Given the description of an element on the screen output the (x, y) to click on. 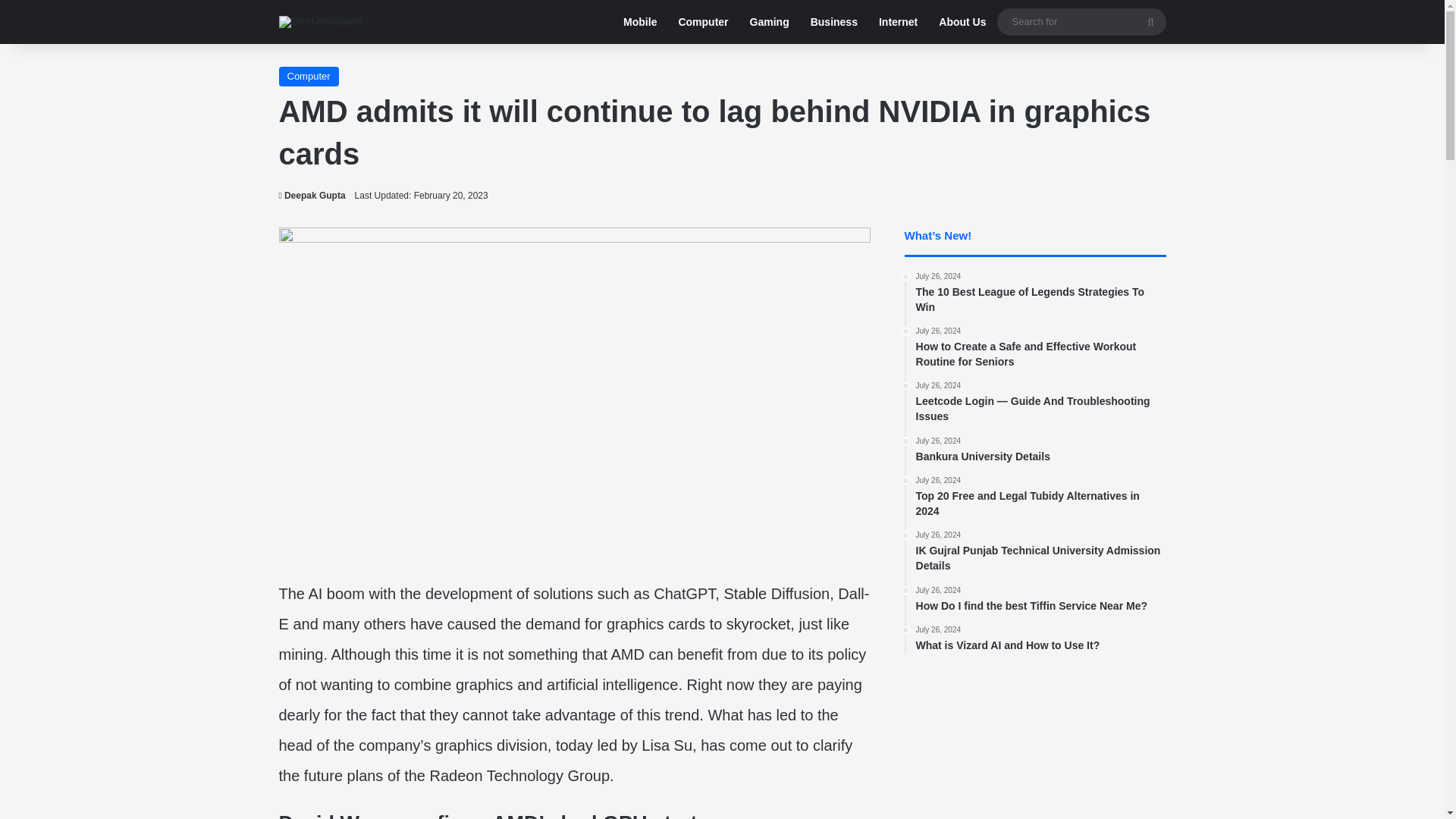
Computer (1040, 450)
Search for (309, 76)
Deepak Gupta (1080, 21)
Gaming (312, 195)
Mobile (769, 22)
About Us (639, 22)
Internet (961, 22)
Deepak Gupta (897, 22)
Computer (312, 195)
TechUnwrapped (702, 22)
